Given the description of an element on the screen output the (x, y) to click on. 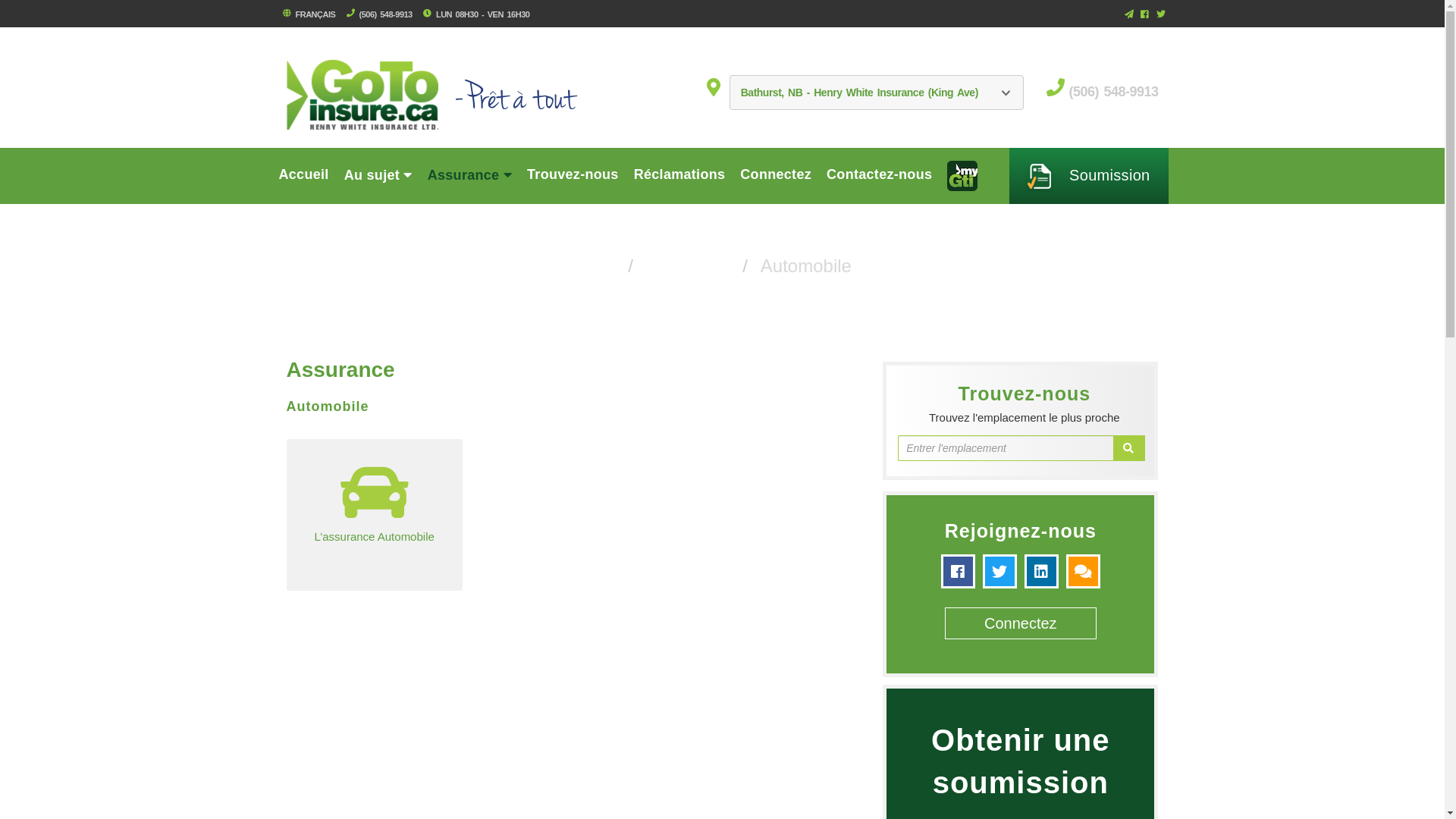
(506) 548-9913 Element type: text (383, 13)
Connectez Element type: text (1020, 623)
Connectez Element type: text (775, 173)
(506) 548-9913 Element type: text (1112, 91)
Facebook Element type: hover (1146, 14)
Assurance Element type: text (469, 174)
Accueil Element type: text (303, 173)
linkedin Element type: hover (1045, 570)
contact Element type: hover (1083, 570)
Au sujet Element type: text (378, 174)
Contactez-nous Element type: text (879, 173)
  Soumission Element type: text (1088, 175)
Facebook Element type: hover (961, 570)
twitter Element type: hover (1003, 570)
Email Element type: hover (1130, 14)
Twitter Element type: hover (1158, 14)
Trouvez-nous Element type: text (572, 173)
Assurance Element type: text (685, 265)
